Given the description of an element on the screen output the (x, y) to click on. 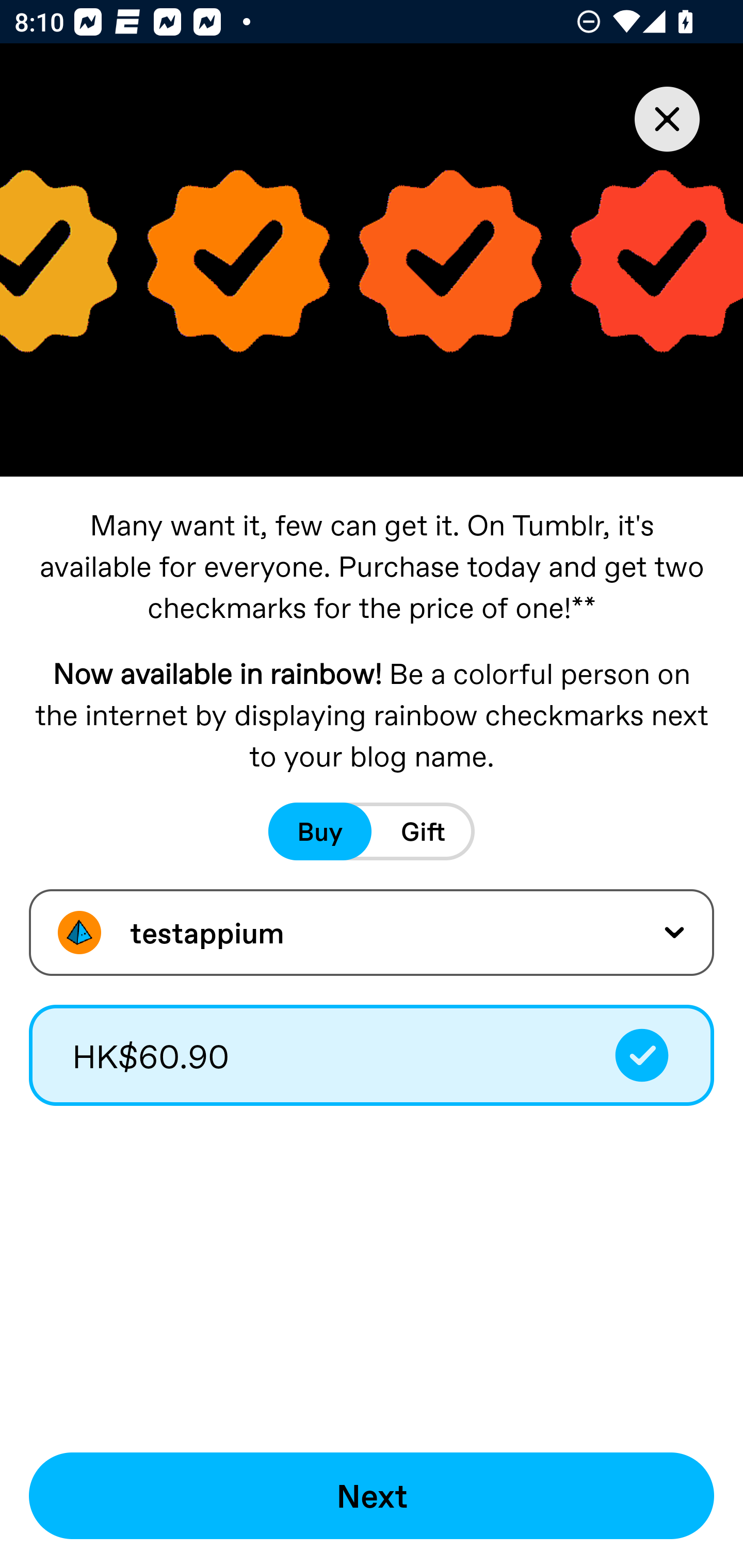
Buy (319, 831)
Gift (423, 831)
testappium (371, 932)
Next (371, 1495)
